Given the description of an element on the screen output the (x, y) to click on. 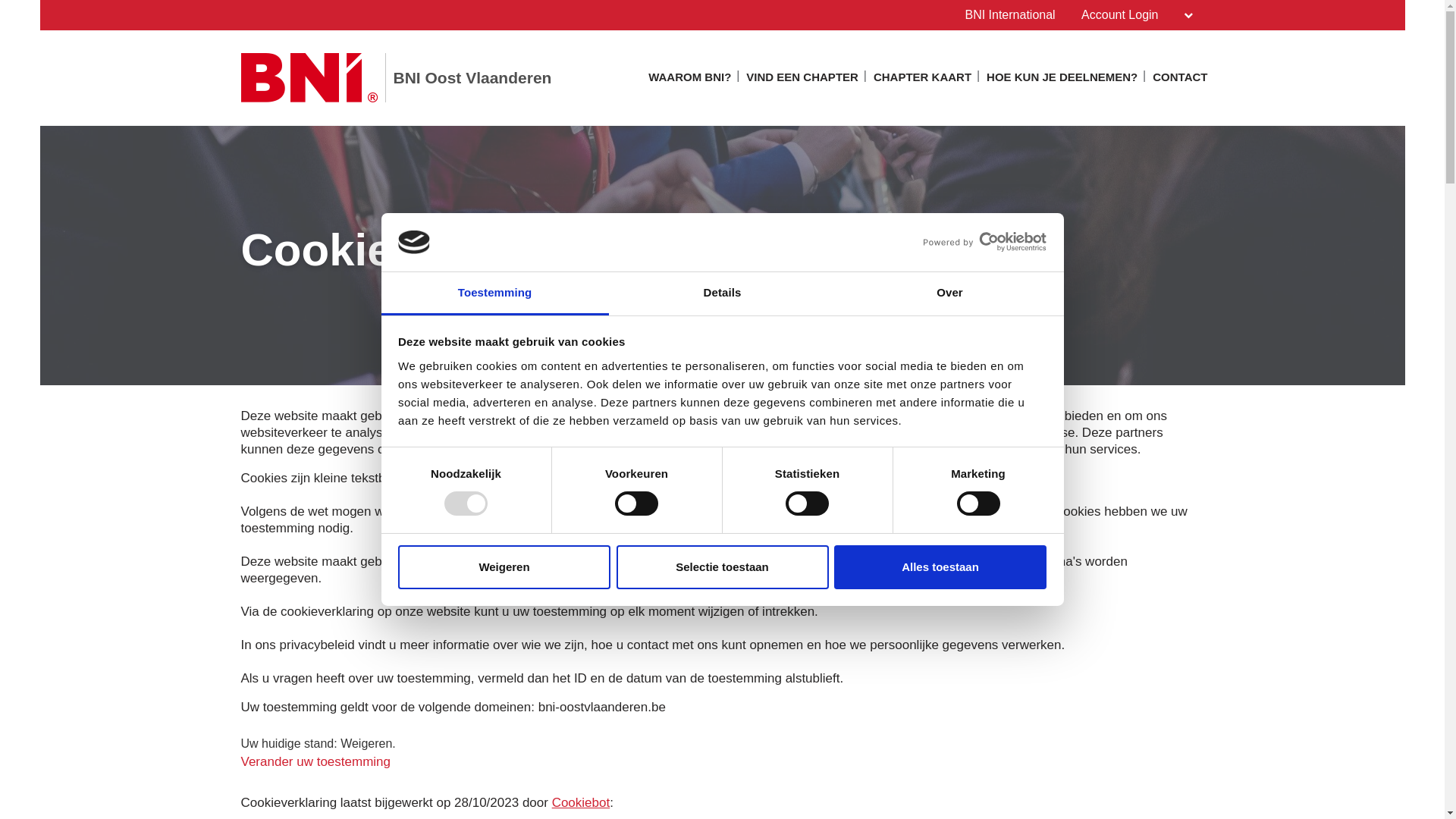
Cookiebot Element type: text (581, 802)
BNI International Element type: text (1009, 15)
WAAROM BNI? Element type: text (689, 80)
Account Login Element type: text (1136, 15)
Weigeren Element type: text (504, 567)
Alles toestaan Element type: text (940, 567)
Details Element type: text (721, 293)
Selectie toestaan Element type: text (721, 567)
Verander uw toestemming Element type: text (316, 761)
Toestemming Element type: text (494, 293)
HOE KUN JE DEELNEMEN? Element type: text (1061, 80)
Over Element type: text (949, 293)
BNI Oost Vlaanderen Element type: text (396, 77)
VIND EEN CHAPTER Element type: text (802, 80)
CONTACT Element type: text (1179, 80)
CHAPTER KAART Element type: text (922, 80)
